Given the description of an element on the screen output the (x, y) to click on. 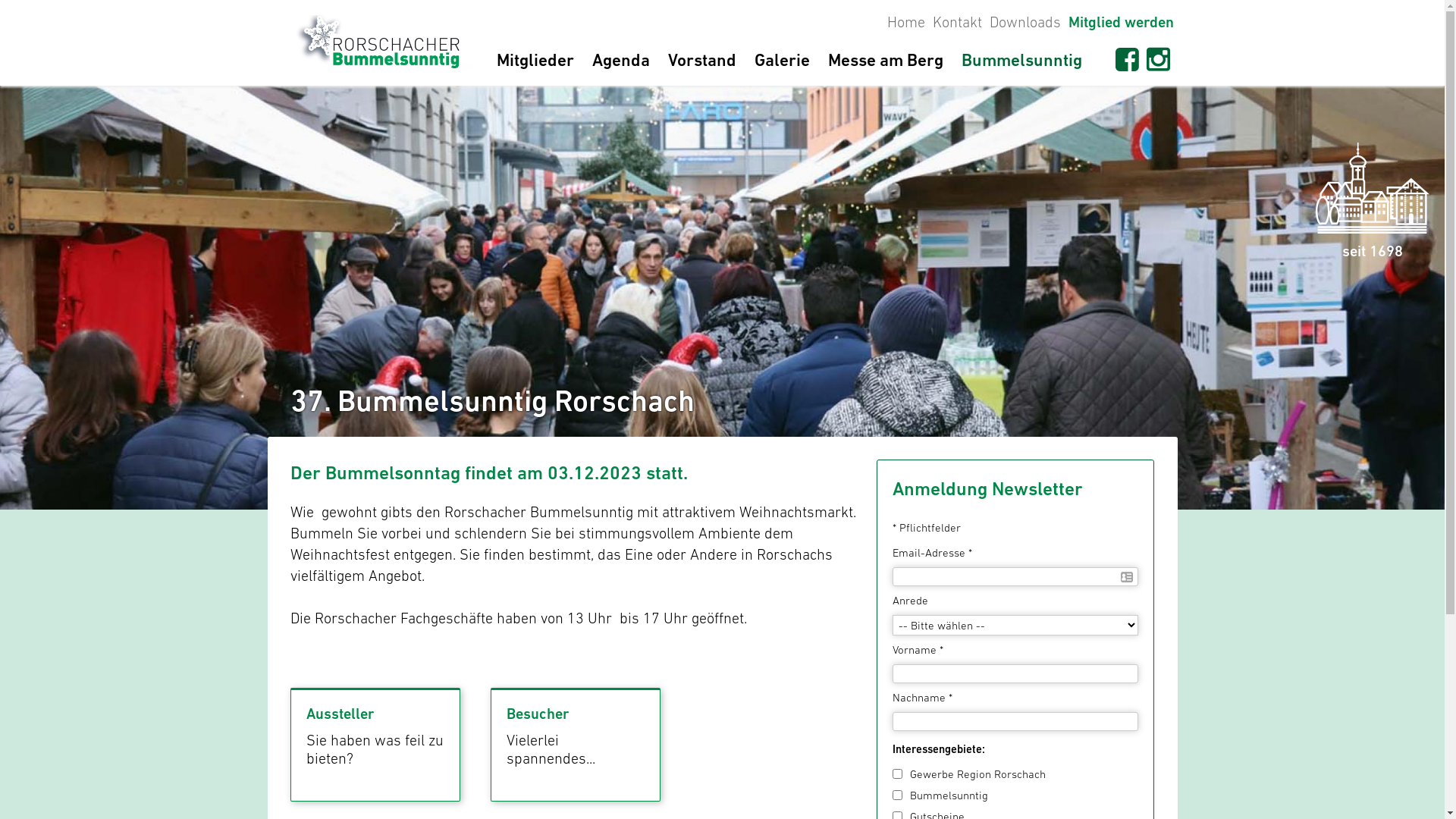
Agenda Element type: text (620, 63)
Home Element type: text (905, 21)
Aussteller
Sie haben was feil zu bieten? Element type: text (374, 744)
Galerie Element type: text (781, 63)
Mitglieder Element type: text (534, 63)
Vorstand Element type: text (701, 63)
Downloads Element type: text (1024, 21)
Messe am Berg Element type: text (885, 63)
Bummelsunntig Element type: text (1021, 63)
Besucher
Vielerlei spannendes... Element type: text (575, 744)
Kontakt Element type: text (956, 21)
Mitglied werden Element type: text (1120, 22)
